Given the description of an element on the screen output the (x, y) to click on. 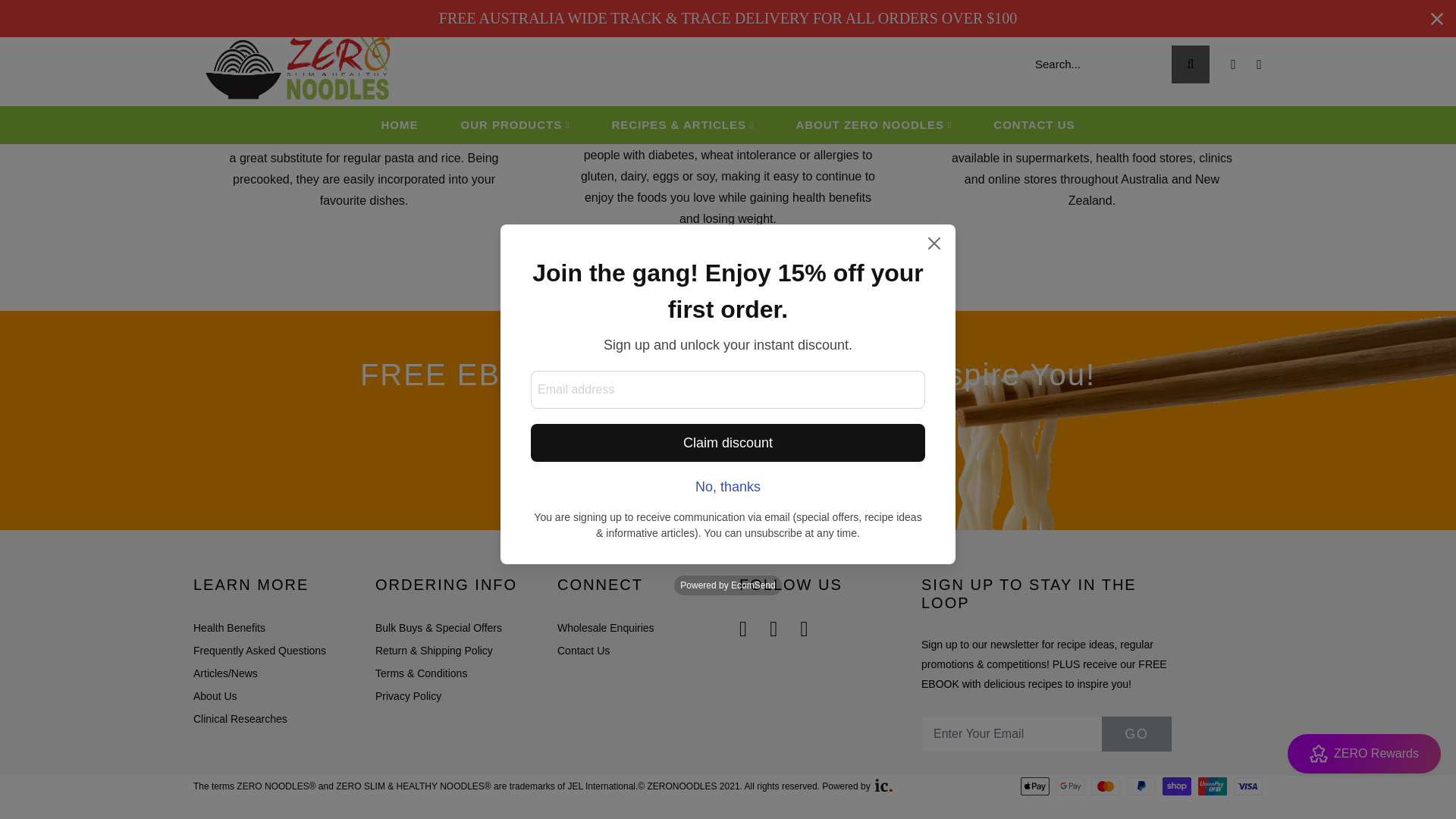
Shop Pay (1176, 786)
Google Pay (1070, 786)
Mastercard (1104, 786)
Union Pay (1212, 786)
Apple Pay (1034, 786)
PayPal (1141, 786)
Visa (1247, 786)
